Given the description of an element on the screen output the (x, y) to click on. 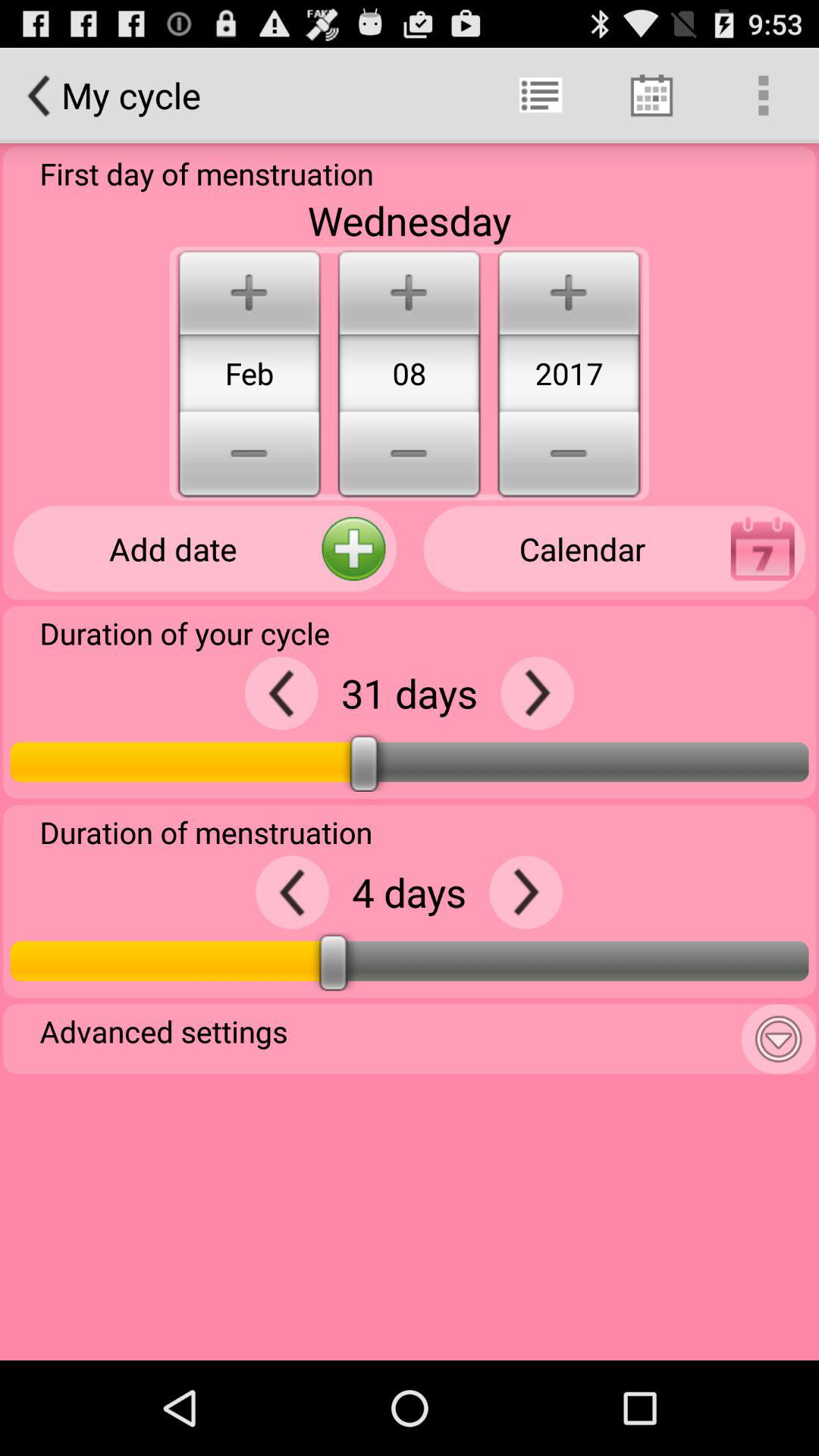
more settings (778, 1039)
